Given the description of an element on the screen output the (x, y) to click on. 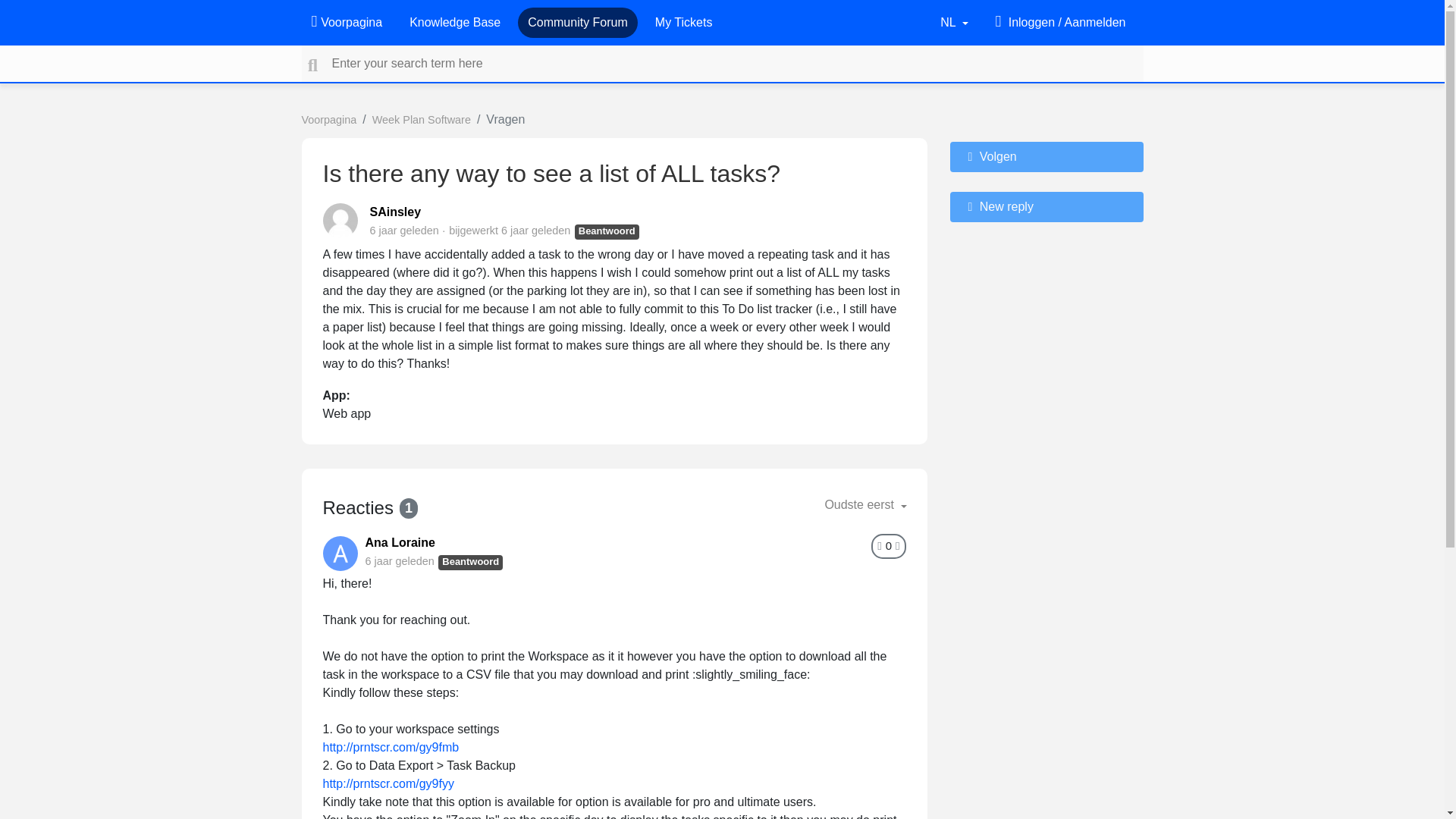
Community Forum (577, 22)
7 februari 2018 13:00 (399, 561)
New reply (1045, 206)
Voorpagina (328, 119)
7 februari 2018 13:00 (535, 230)
7 februari 2018 12:22 (404, 230)
My Tickets (684, 22)
NL (954, 22)
SAinsley (395, 211)
Volgen (1045, 156)
Oudste eerst (865, 504)
Knowledge Base (454, 22)
Week Plan Software (421, 119)
Voorpagina (346, 22)
Ana Loraine (400, 542)
